Given the description of an element on the screen output the (x, y) to click on. 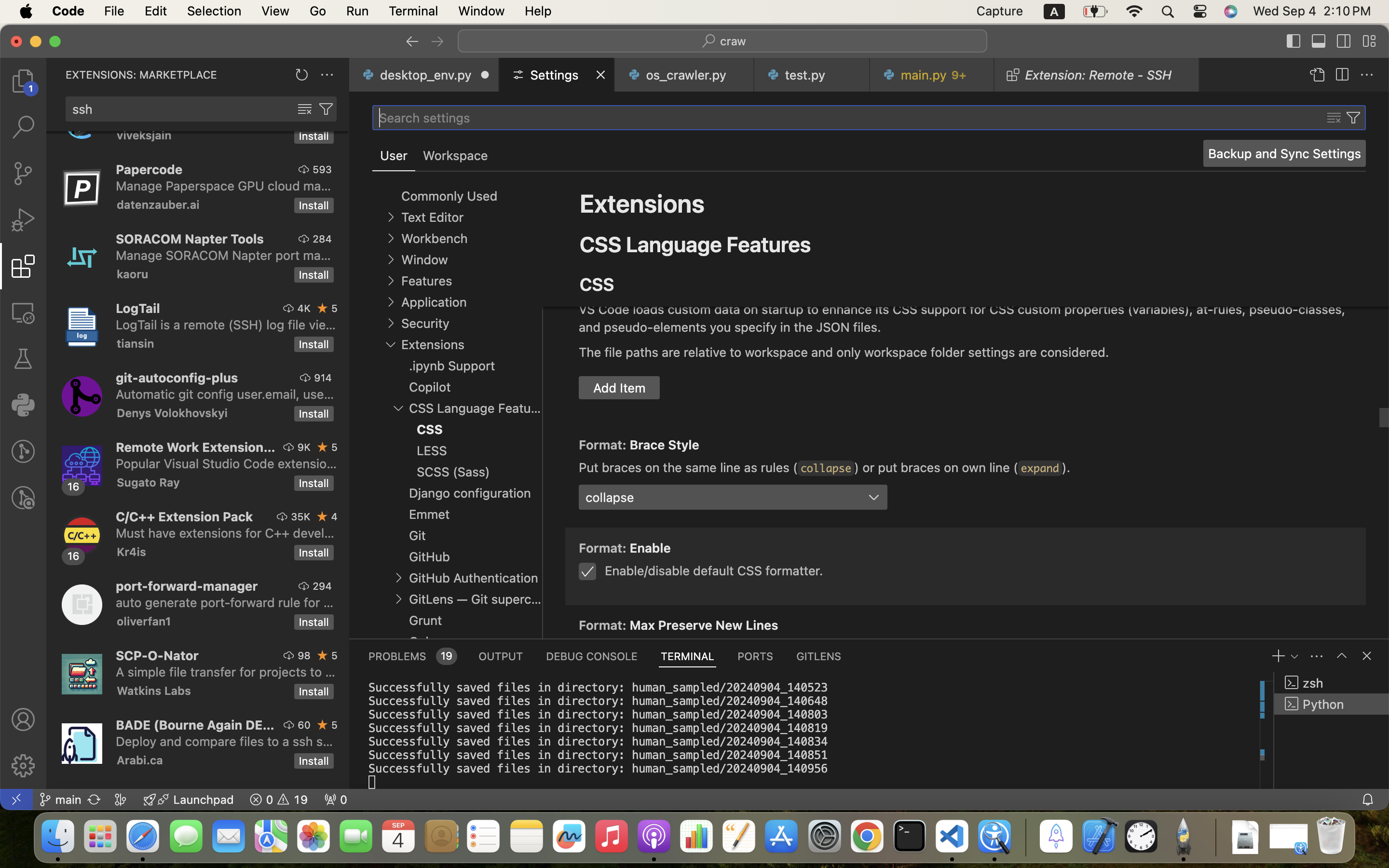
) or put braces on own line ( Element type: AXStaticText (936, 467)
Popular Visual Studio Code extensions for Remote Work Element type: AXStaticText (226, 463)
A simple file transfer for projects to and from servers suporting scp (ssh file transfer). Element type: AXStaticText (225, 671)
Denys Volokhovskyi Element type: AXStaticText (171, 412)
0 Element type: AXRadioButton (454, 155)
